Given the description of an element on the screen output the (x, y) to click on. 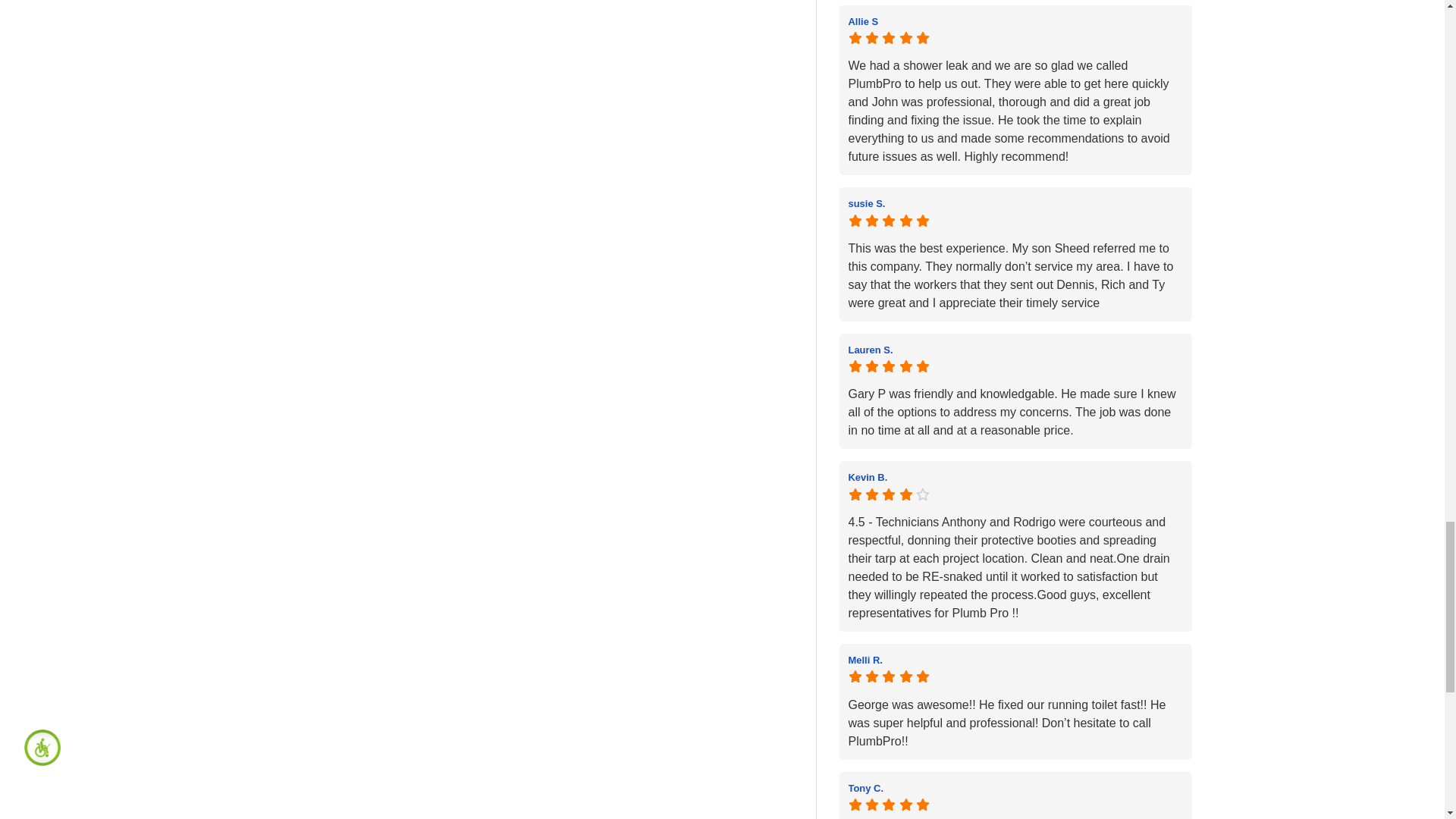
Melli R. (1014, 659)
susie S. (1014, 202)
Kevin B. (1014, 477)
Tony C. (1014, 787)
Lauren S. (1014, 349)
Allie S (1014, 20)
